Given the description of an element on the screen output the (x, y) to click on. 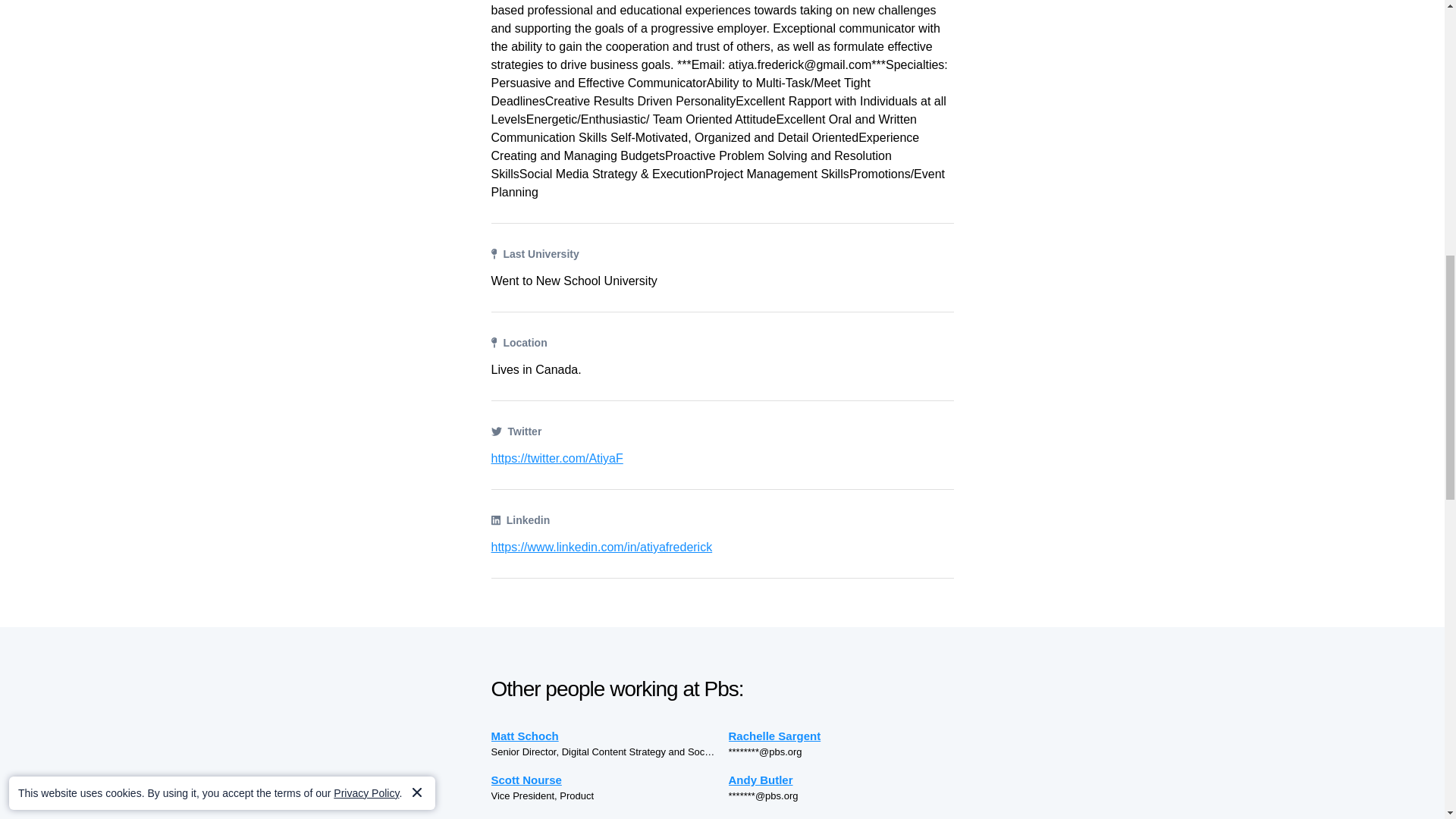
Scott Nourse (604, 779)
Rachelle Sargent (840, 735)
Matt Schoch (604, 735)
Joyce Bentzman (840, 816)
Kevin Dando (604, 816)
Andy Butler (840, 779)
